Given the description of an element on the screen output the (x, y) to click on. 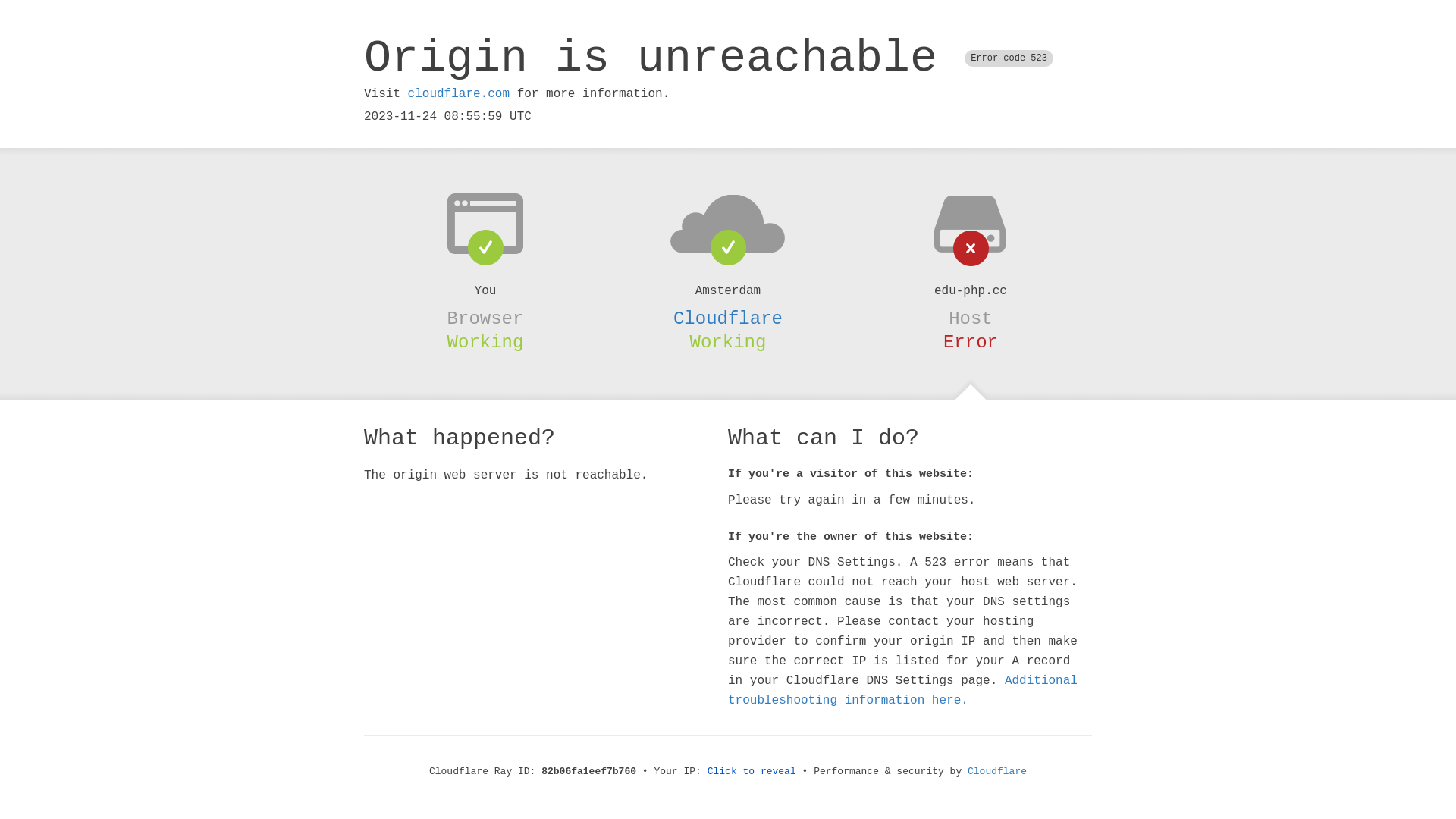
Cloudflare Element type: text (727, 318)
cloudflare.com Element type: text (458, 93)
Click to reveal Element type: text (751, 771)
Additional troubleshooting information here. Element type: text (902, 690)
Cloudflare Element type: text (996, 771)
